Given the description of an element on the screen output the (x, y) to click on. 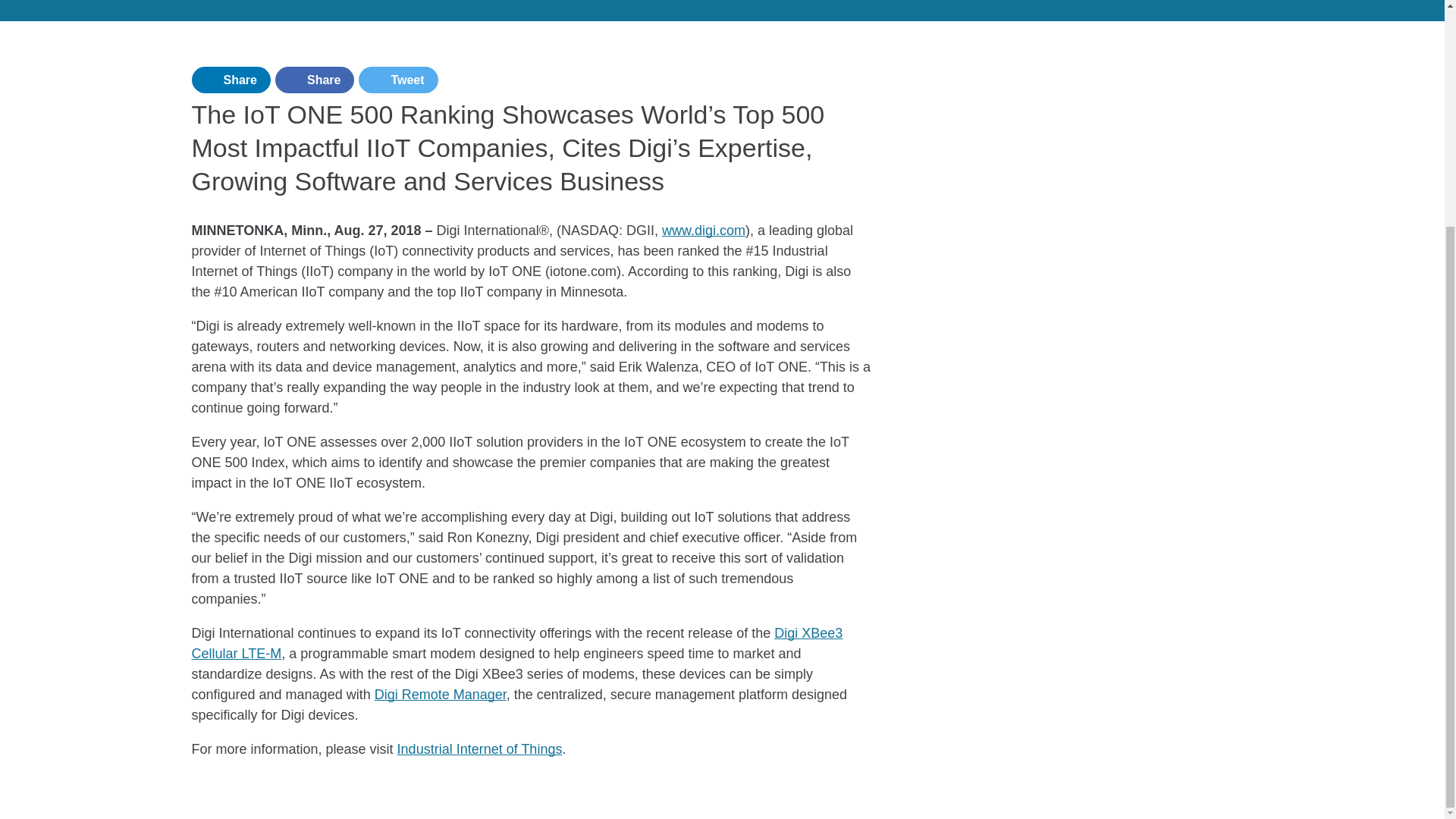
Share on LinkedIn (229, 79)
Share on Facebook (314, 79)
Tweet on Twitter (398, 79)
